Given the description of an element on the screen output the (x, y) to click on. 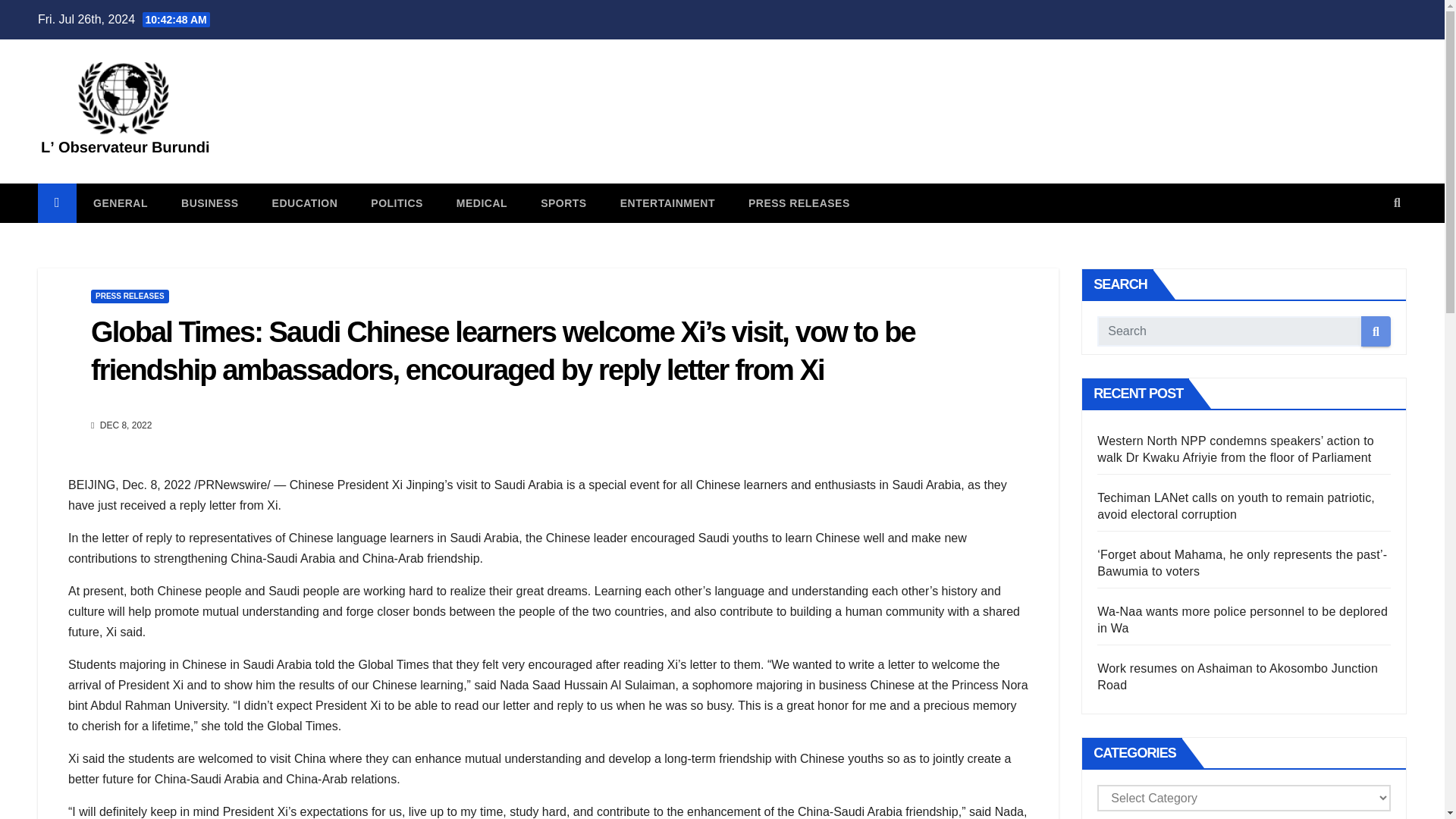
Education (305, 202)
EDUCATION (305, 202)
Entertainment (668, 202)
SPORTS (564, 202)
PRESS RELEASES (799, 202)
Wa-Naa wants more police personnel to be deplored in Wa (1242, 619)
POLITICS (396, 202)
Sports (564, 202)
PRESS RELEASES (129, 296)
MEDICAL (481, 202)
BUSINESS (210, 202)
Work resumes on Ashaiman to Akosombo Junction Road (1237, 676)
Press Releases (799, 202)
General (120, 202)
